Given the description of an element on the screen output the (x, y) to click on. 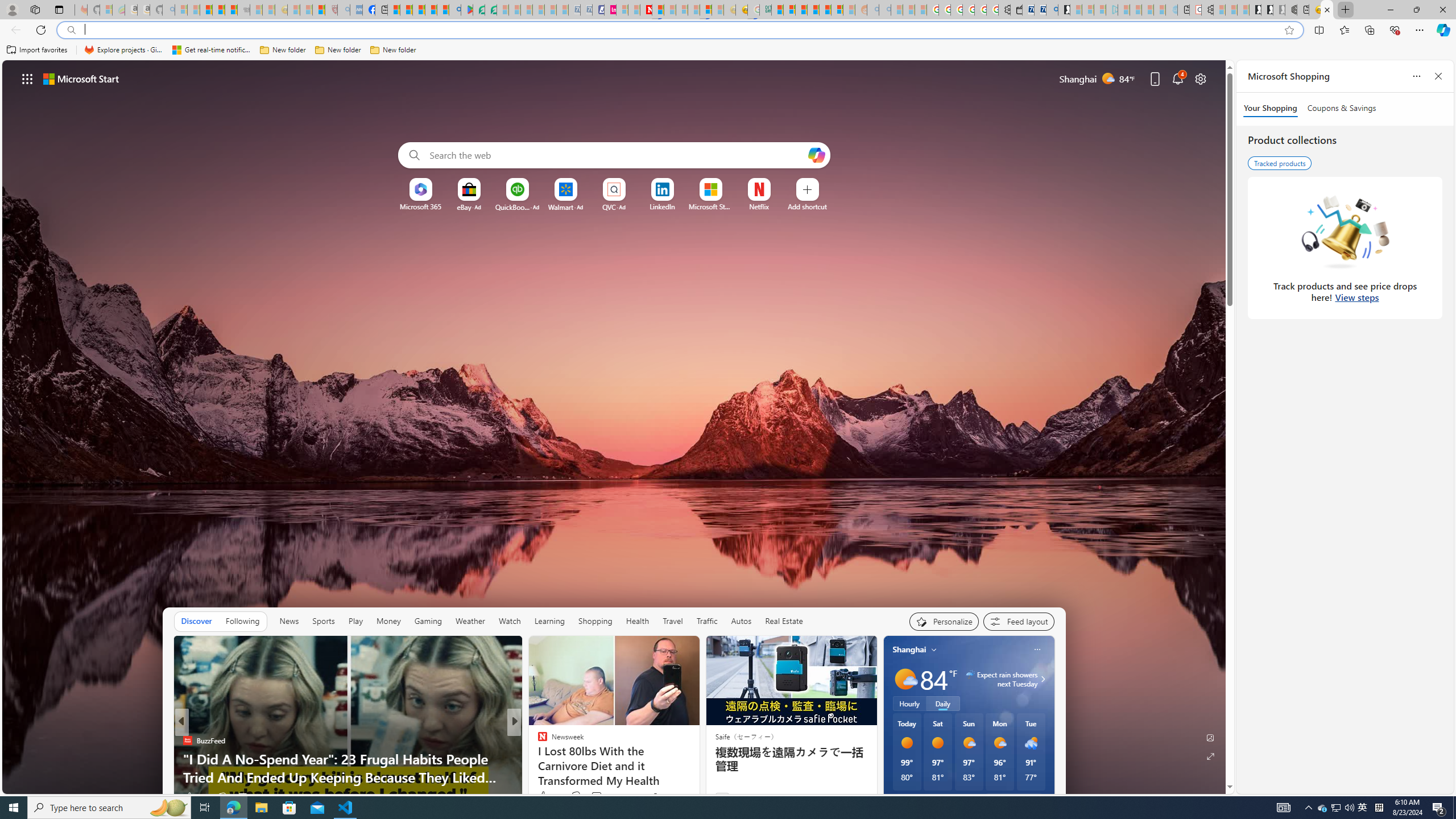
Offline games - Android Apps on Google Play (466, 9)
Kinda Frugal - MSN (824, 9)
57 Like (543, 796)
Terms of Use Agreement (478, 9)
